Given the description of an element on the screen output the (x, y) to click on. 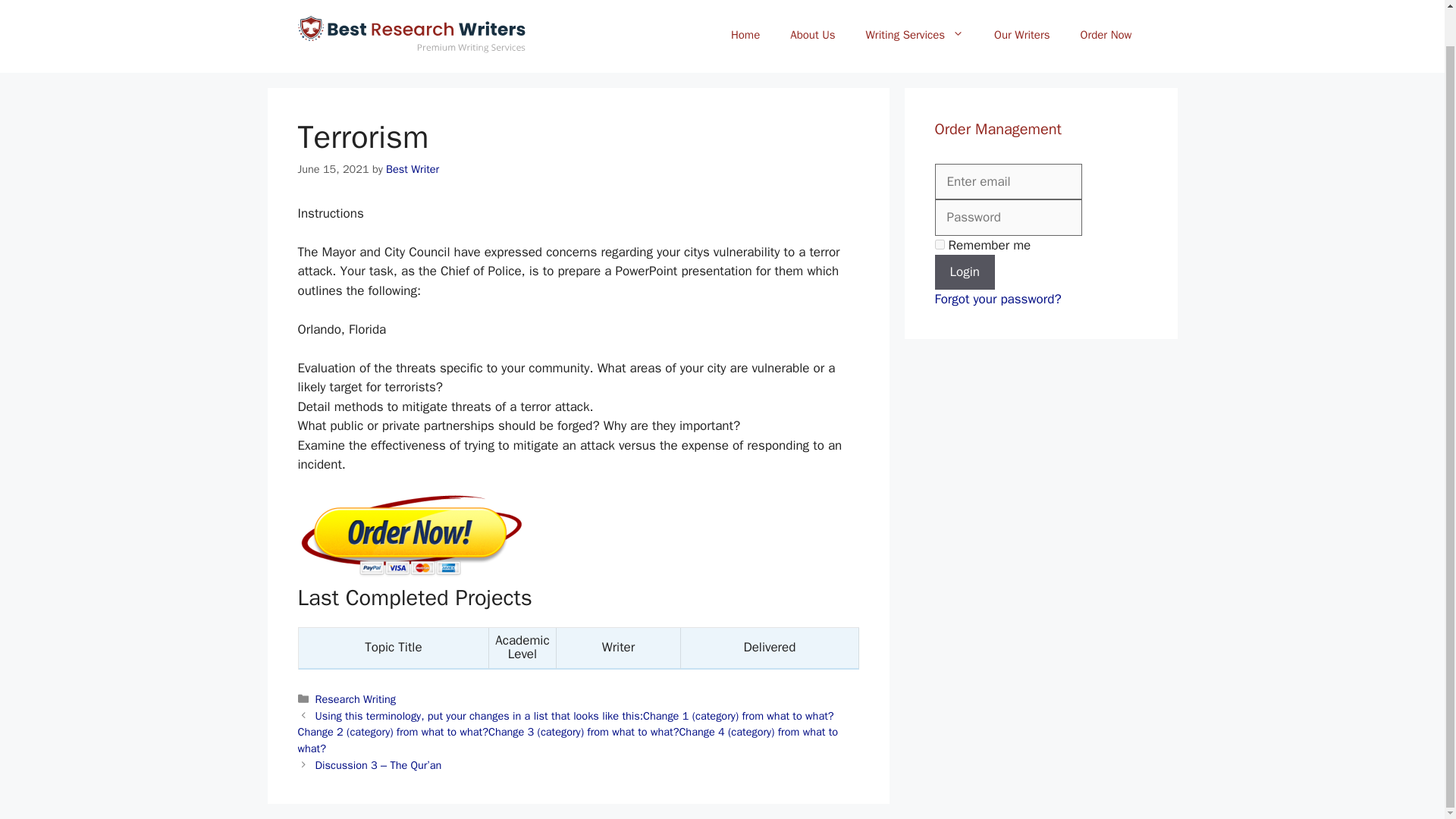
Recover password (997, 299)
Writing Services (914, 34)
Forgot your password? (997, 299)
Home (745, 34)
click to Login (964, 271)
View all posts by Best Writer (412, 169)
Best Writer (412, 169)
Order Now (1105, 34)
on (938, 244)
Login (964, 271)
Research Writing (355, 698)
About Us (812, 34)
Our Writers (1021, 34)
